Given the description of an element on the screen output the (x, y) to click on. 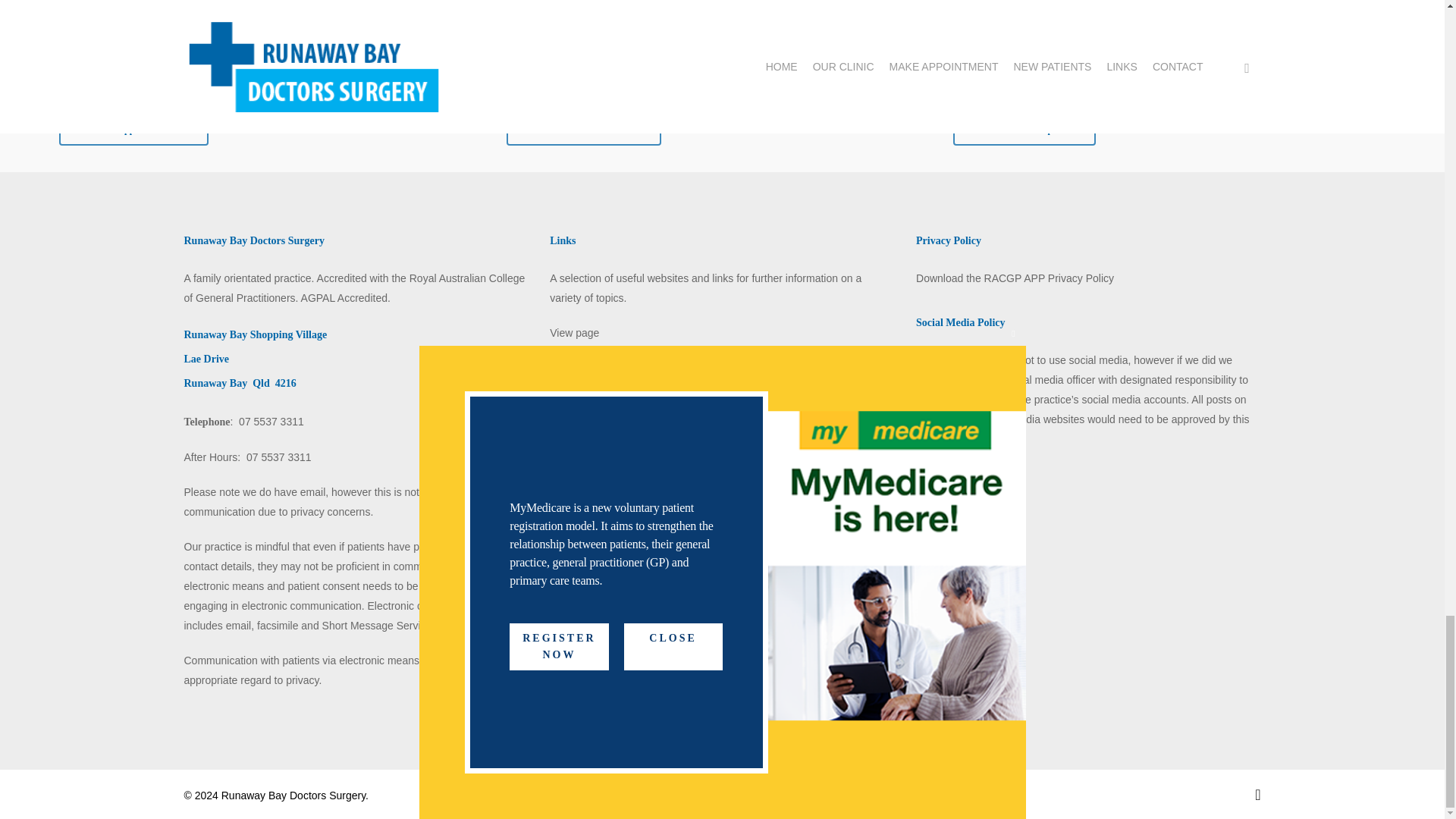
Download the RACGP APP Privacy Policy (1014, 277)
COVID care plan for children (207, 7)
Safer healthcare tips (1024, 129)
New Patients enrol here (583, 129)
View page (574, 332)
Feeling Sick? (590, 7)
Make an Appointment (133, 129)
Telephone:  07 5537 3311 (242, 421)
Managing at home with assistance from your GP (1158, 7)
